Given the description of an element on the screen output the (x, y) to click on. 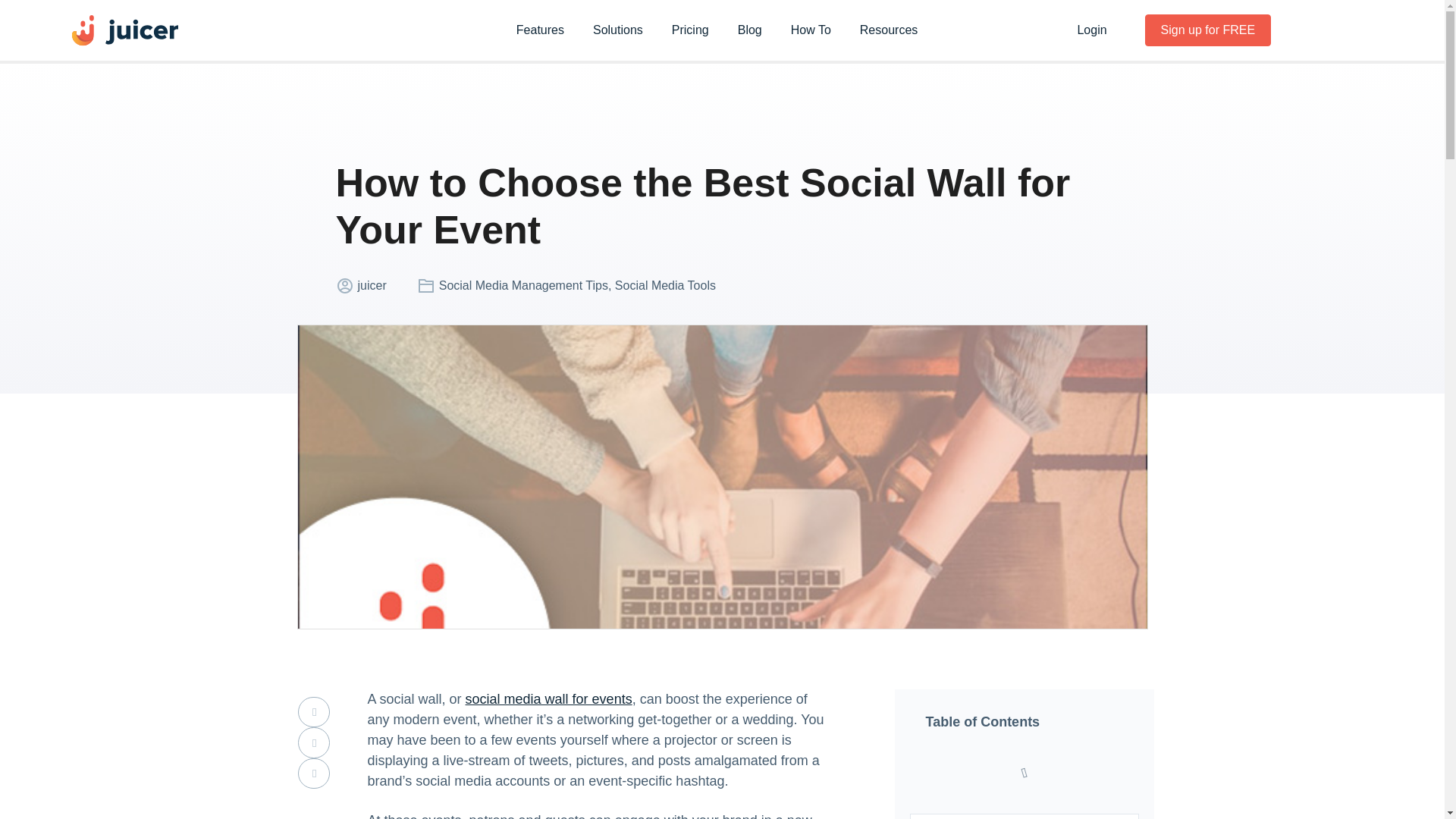
Solutions (617, 30)
Pricing (690, 30)
Features (540, 30)
How To (810, 30)
